Given the description of an element on the screen output the (x, y) to click on. 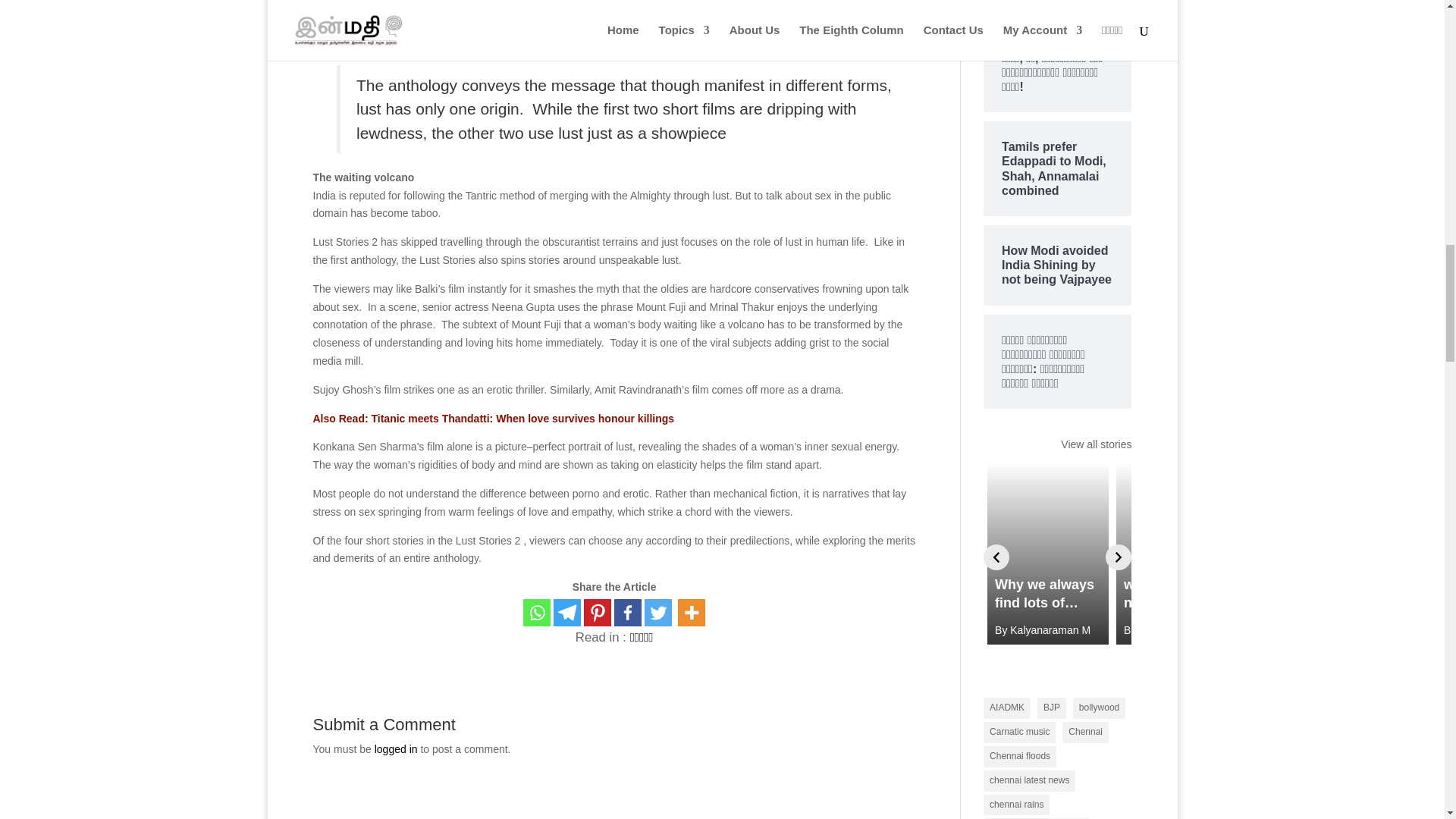
Telegram (566, 612)
Whatsapp (536, 612)
Twitter (658, 612)
More (691, 612)
Facebook (628, 612)
Pinterest (597, 612)
